Given the description of an element on the screen output the (x, y) to click on. 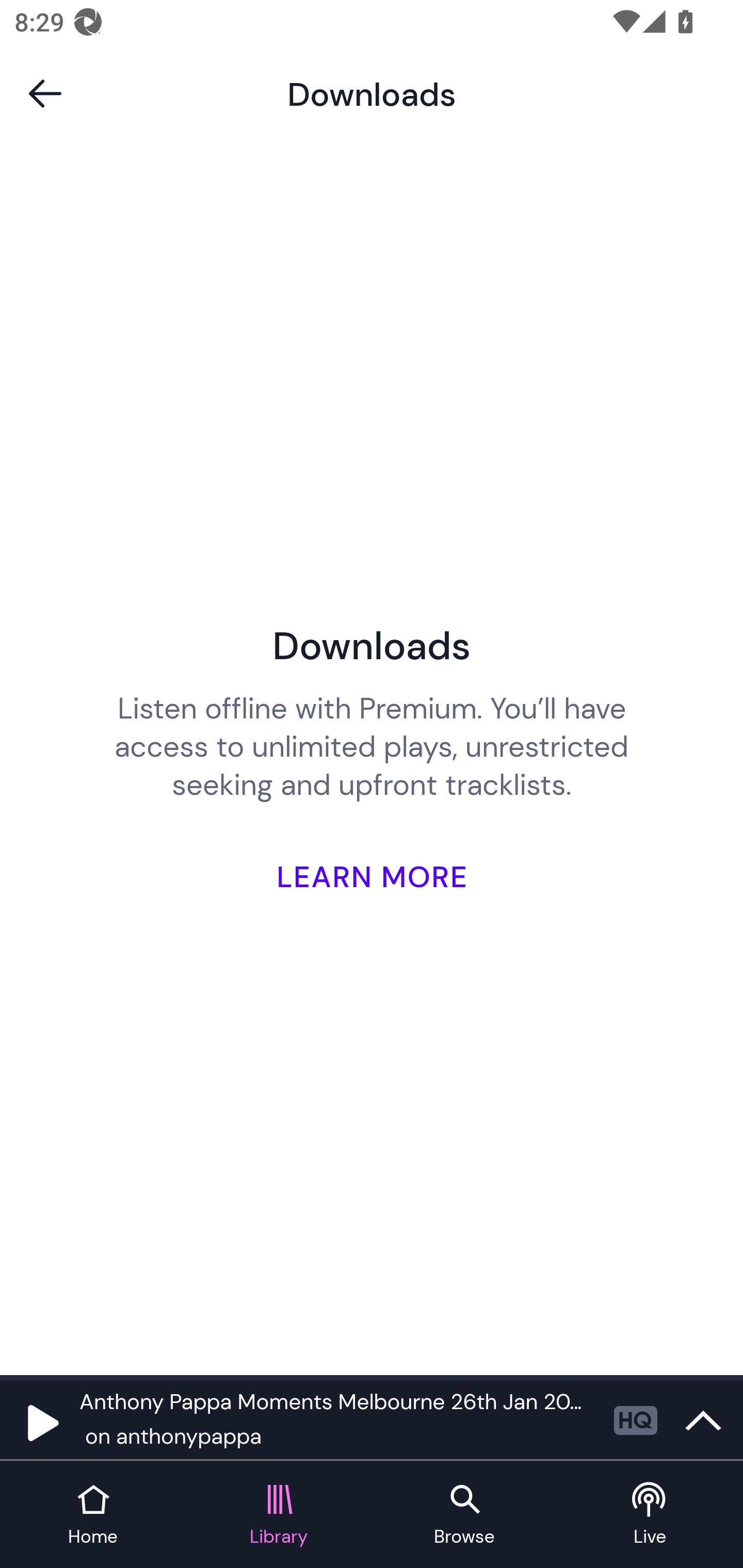
LEARN MORE (371, 848)
Home tab Home (92, 1515)
Library tab Library (278, 1515)
Browse tab Browse (464, 1515)
Live tab Live (650, 1515)
